Given the description of an element on the screen output the (x, y) to click on. 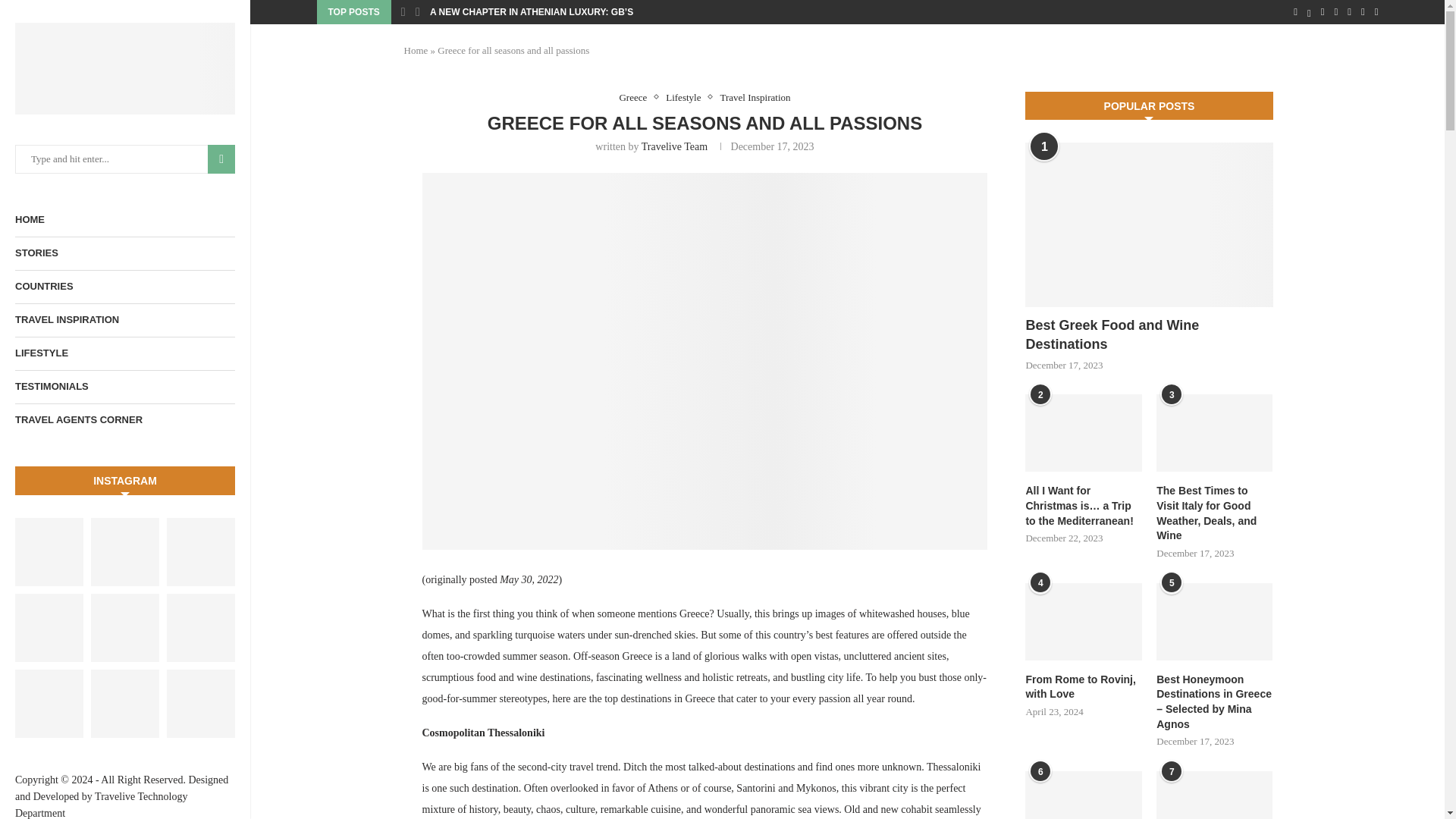
LIFESTYLE (124, 353)
All dressed up with plenty of places to go! Virtuoso... (49, 551)
SEARCH (221, 158)
TESTIMONIALS (124, 387)
Looking for a perfect  (200, 551)
TRAVEL AGENTS CORNER (124, 420)
COUNTRIES (124, 287)
HOME (124, 219)
